Given the description of an element on the screen output the (x, y) to click on. 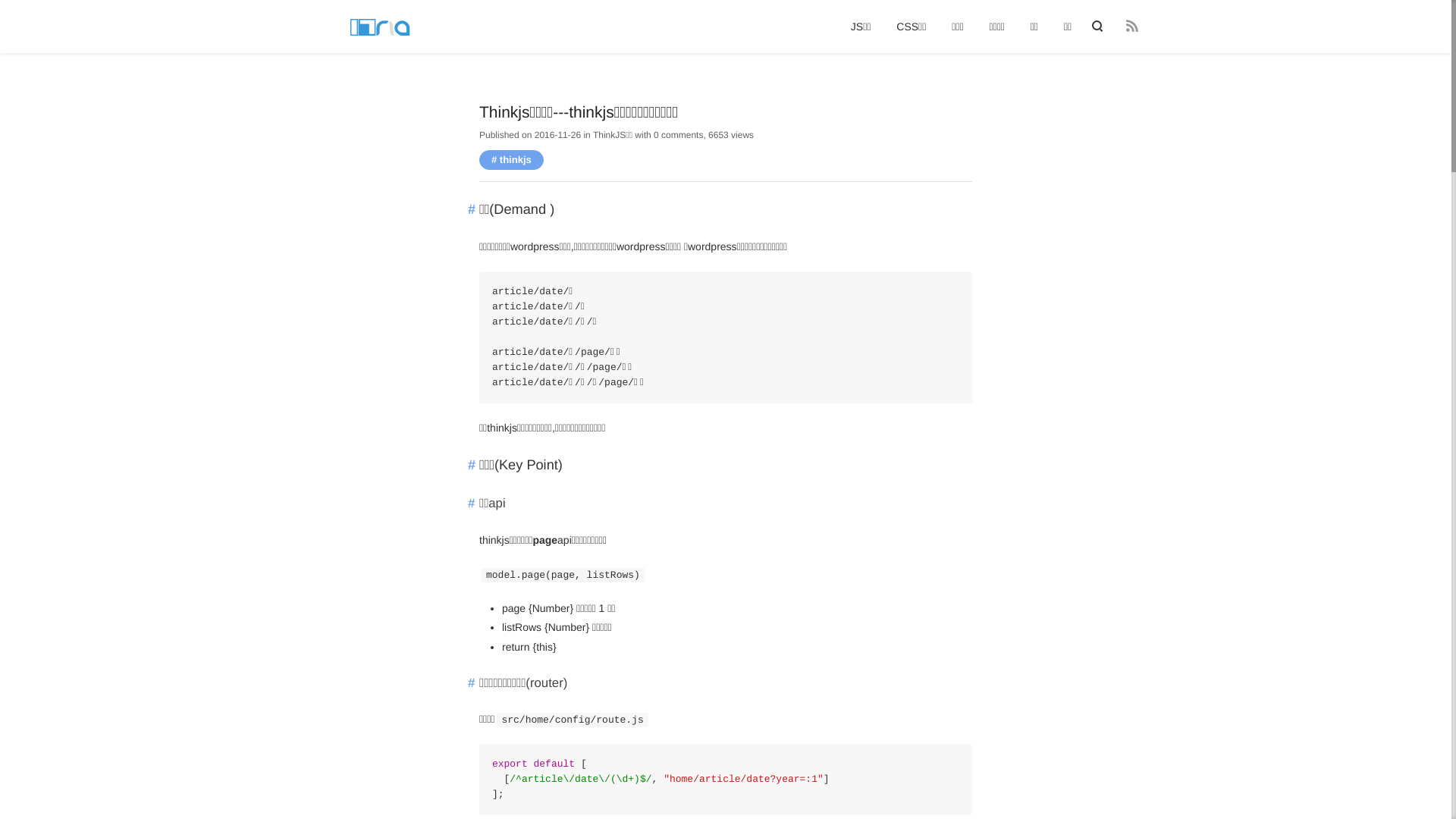
0 comments, Element type: text (679, 134)
thinkjs Element type: text (511, 159)
